Given the description of an element on the screen output the (x, y) to click on. 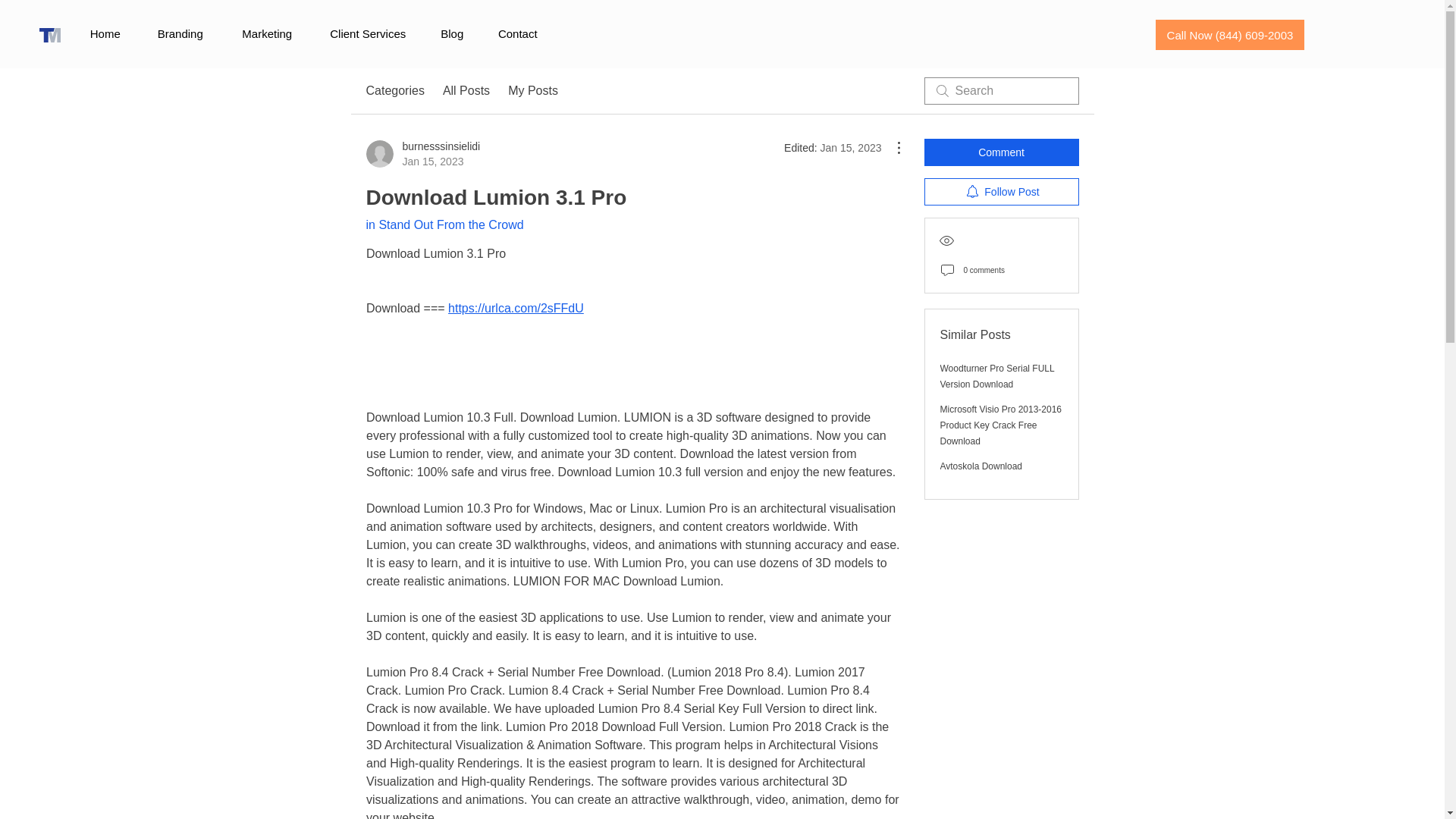
All Posts (465, 90)
Blog (451, 34)
Home (422, 153)
in Stand Out From the Crowd (104, 34)
Contact (443, 224)
Categories (517, 34)
My Posts (394, 90)
